Given the description of an element on the screen output the (x, y) to click on. 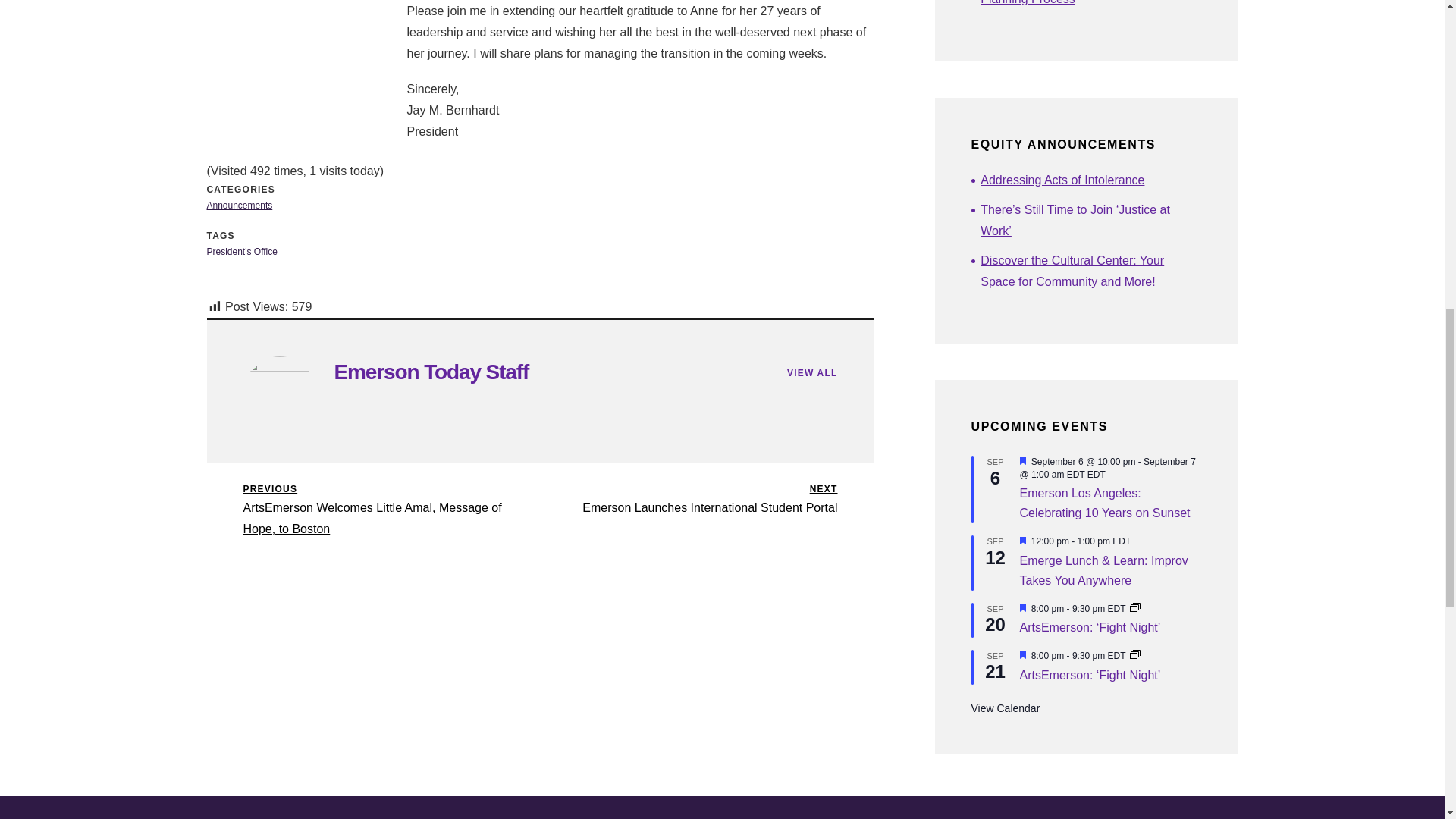
Announcements (239, 204)
Emerson Los Angeles: Celebrating 10 Years on Sunset (1104, 503)
Event Series (1134, 608)
Addressing Acts of Intolerance (1090, 179)
Event Series (1134, 655)
Featured (430, 372)
Featured (1022, 608)
Featured (1022, 461)
Update on the Institutional Strategic Planning Process (1022, 541)
President's Office (1090, 4)
Featured (241, 251)
